Given the description of an element on the screen output the (x, y) to click on. 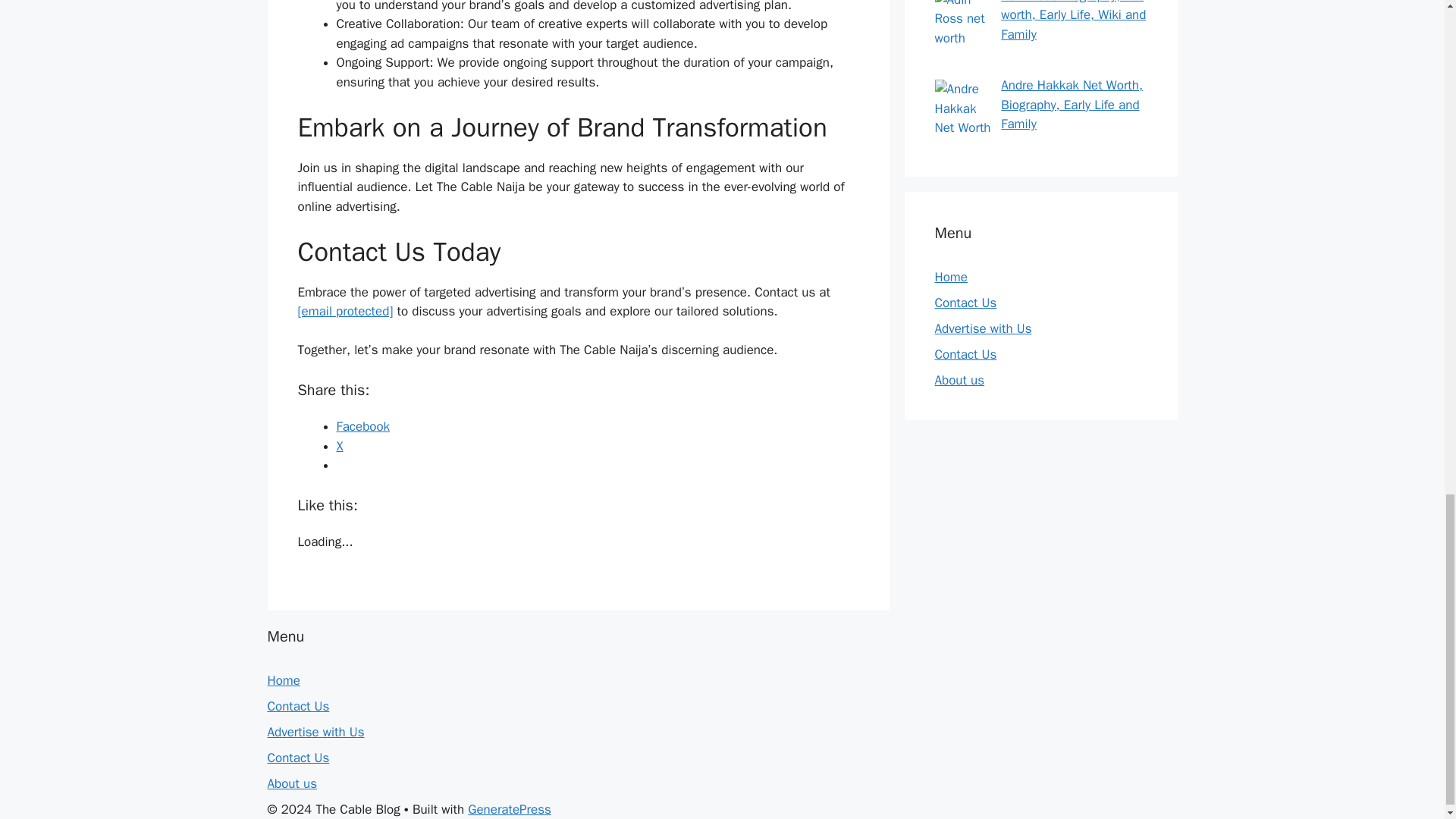
Home (950, 277)
Advertise with Us (982, 328)
Click to share on Facebook (363, 426)
Facebook (363, 426)
Advertise with Us (315, 731)
Home (282, 680)
Contact Us (297, 706)
Contact Us (964, 302)
Andre Hakkak Net Worth, Biography, Early Life and Family (1071, 103)
Contact Us (964, 354)
About us (959, 380)
Contact Us (297, 757)
Adin Ross Biography, Net worth, Early Life, Wiki and Family (1073, 21)
